Given the description of an element on the screen output the (x, y) to click on. 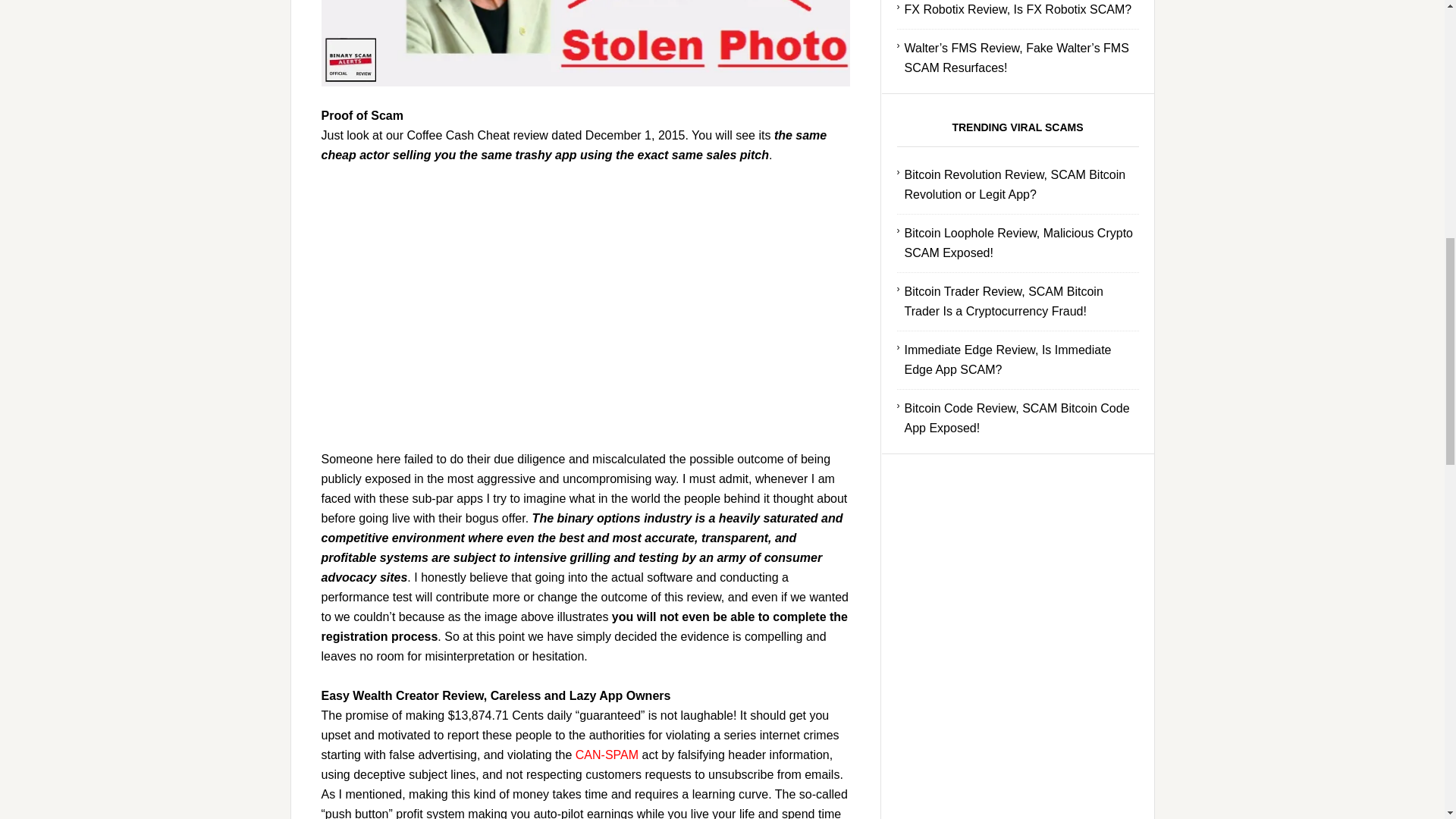
Easy Wealth Creator (585, 43)
CAN-SPAM (607, 754)
